Given the description of an element on the screen output the (x, y) to click on. 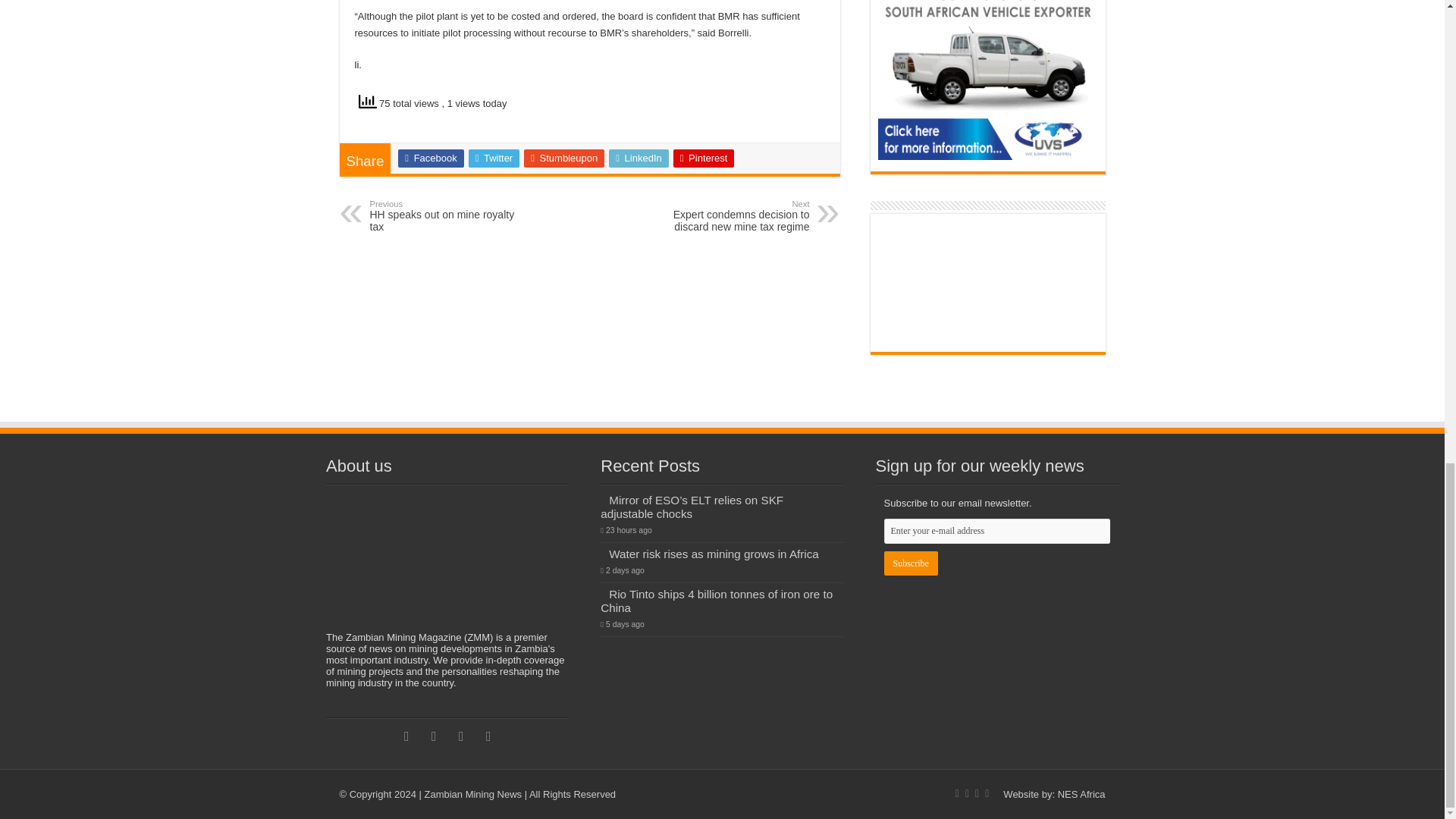
Enter your e-mail address (996, 530)
Subscribe (910, 563)
